Given the description of an element on the screen output the (x, y) to click on. 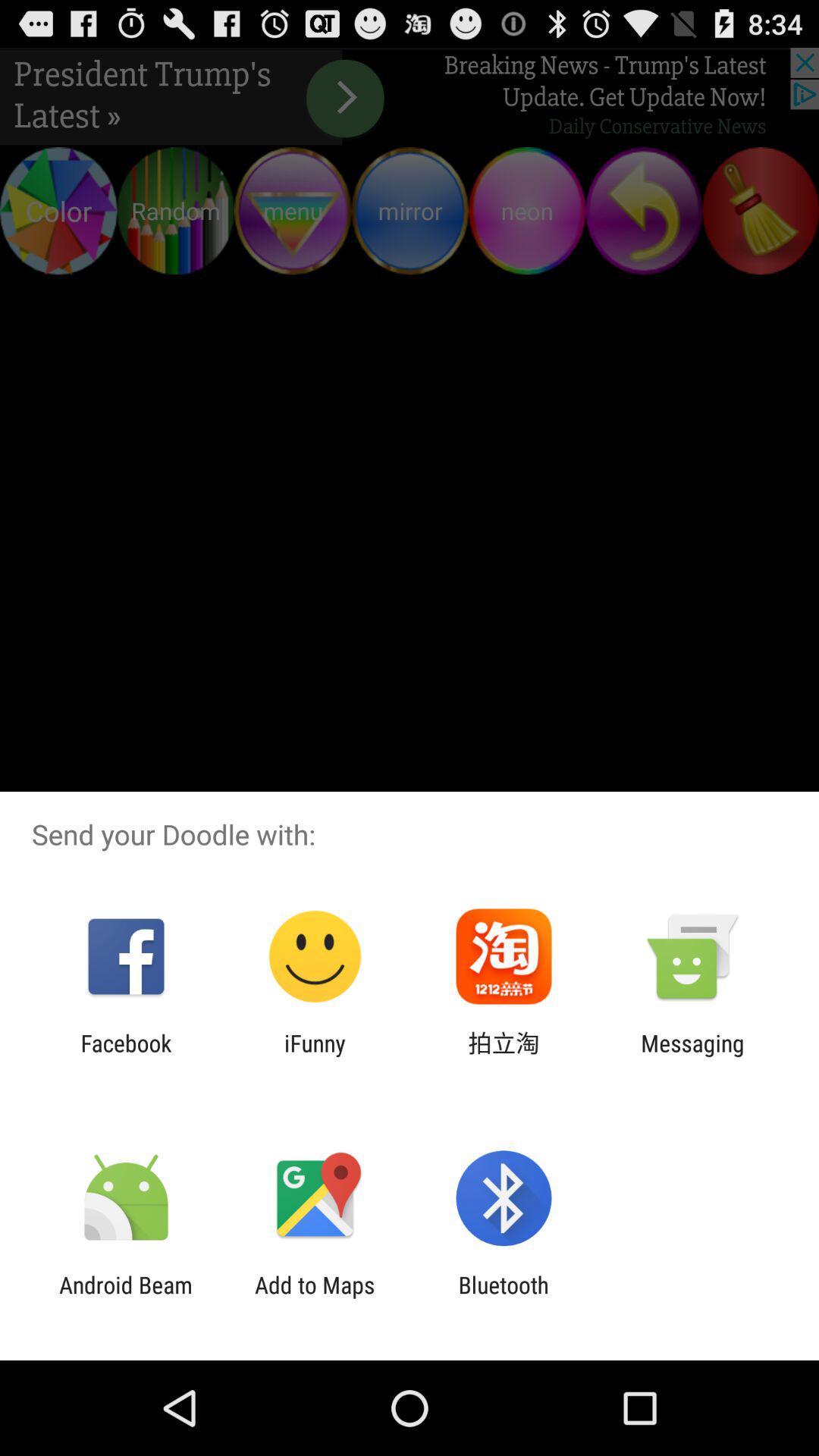
open the item to the left of the add to maps (125, 1298)
